Given the description of an element on the screen output the (x, y) to click on. 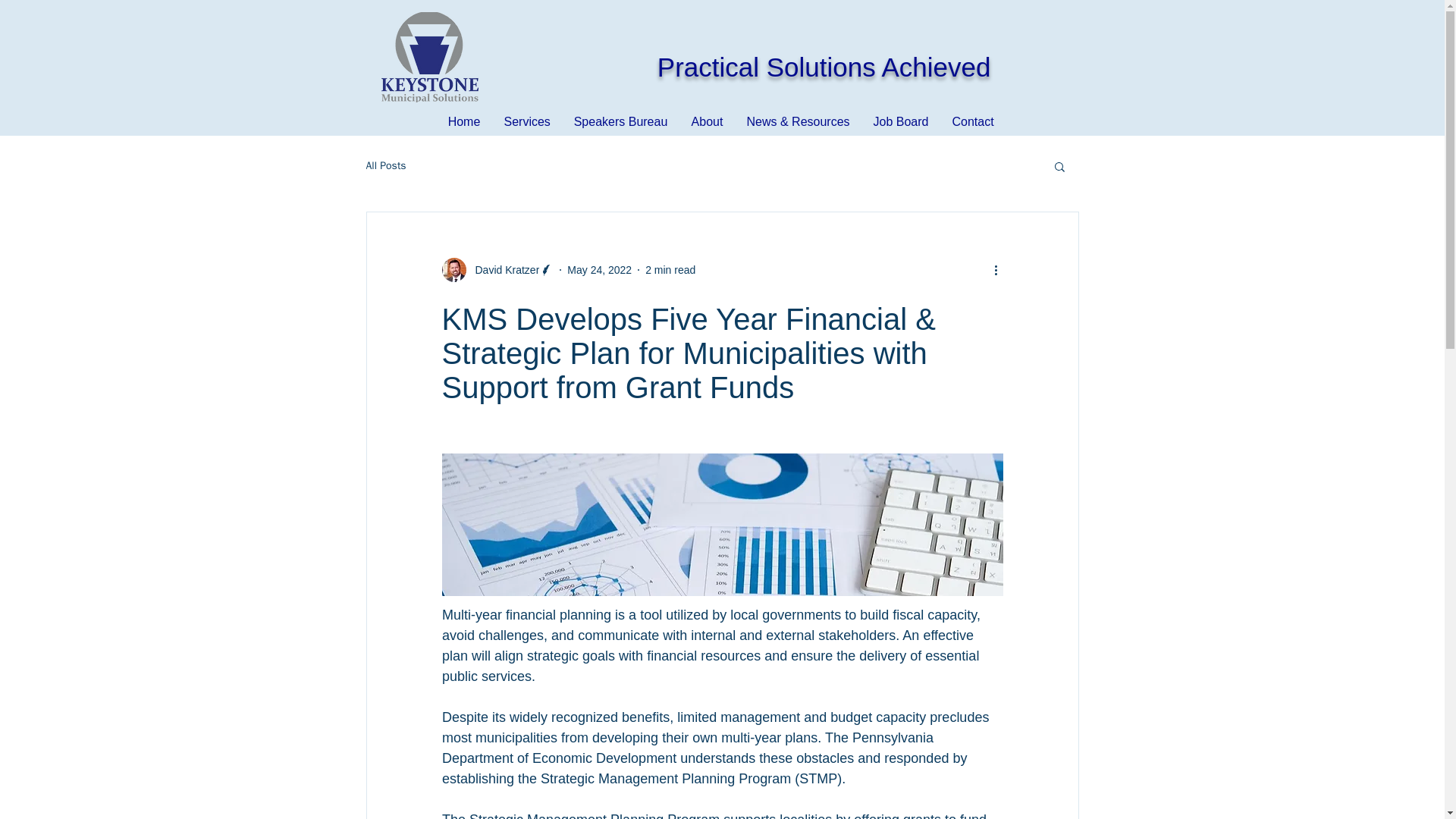
2 min read (670, 269)
Speakers Bureau (620, 121)
Home (464, 121)
All Posts (385, 165)
Contact (972, 121)
David Kratzer (501, 270)
Job Board (900, 121)
May 24, 2022 (599, 269)
About (706, 121)
Services (527, 121)
David Kratzer (497, 269)
